Given the description of an element on the screen output the (x, y) to click on. 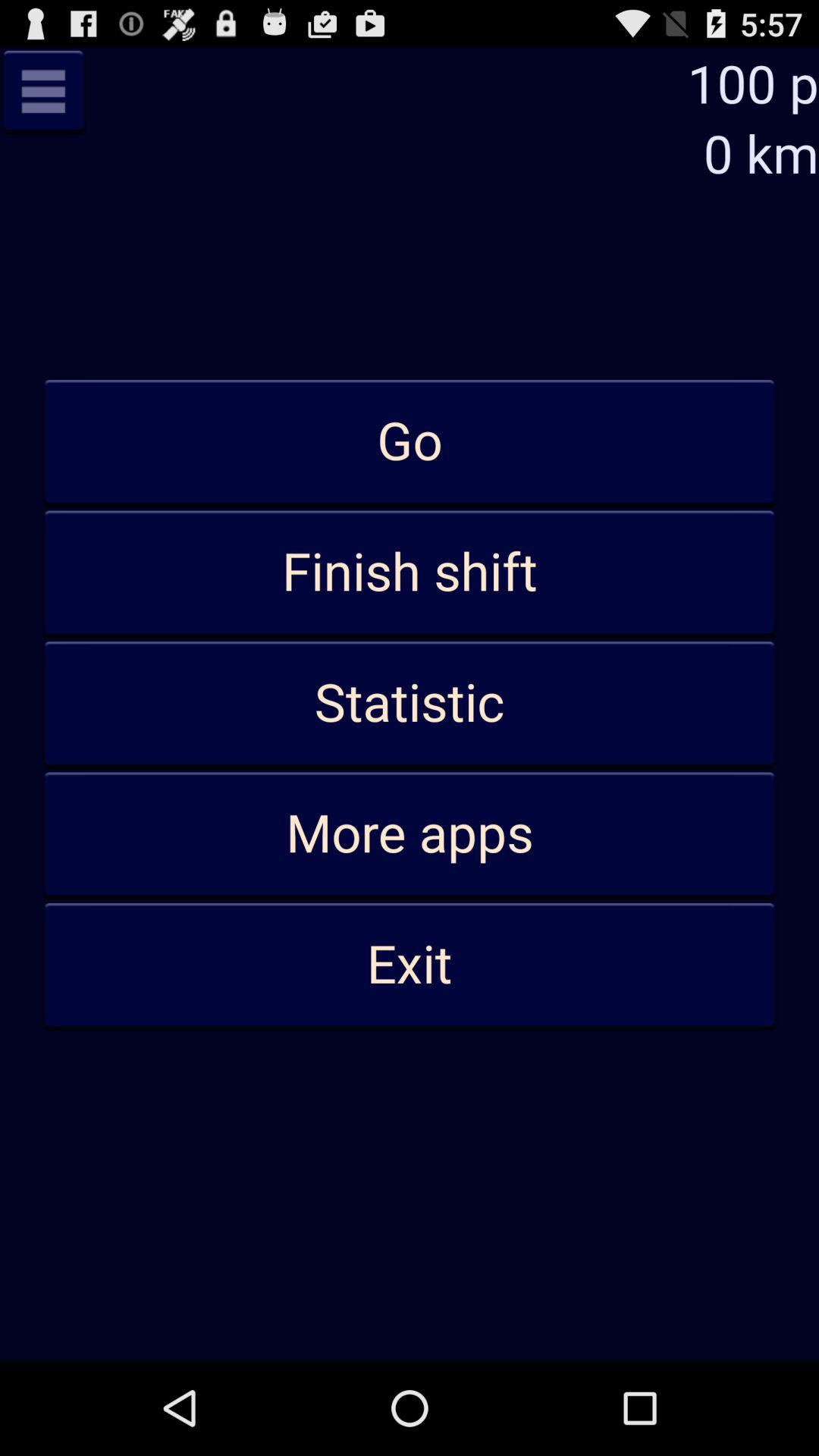
launch the more apps item (409, 834)
